Given the description of an element on the screen output the (x, y) to click on. 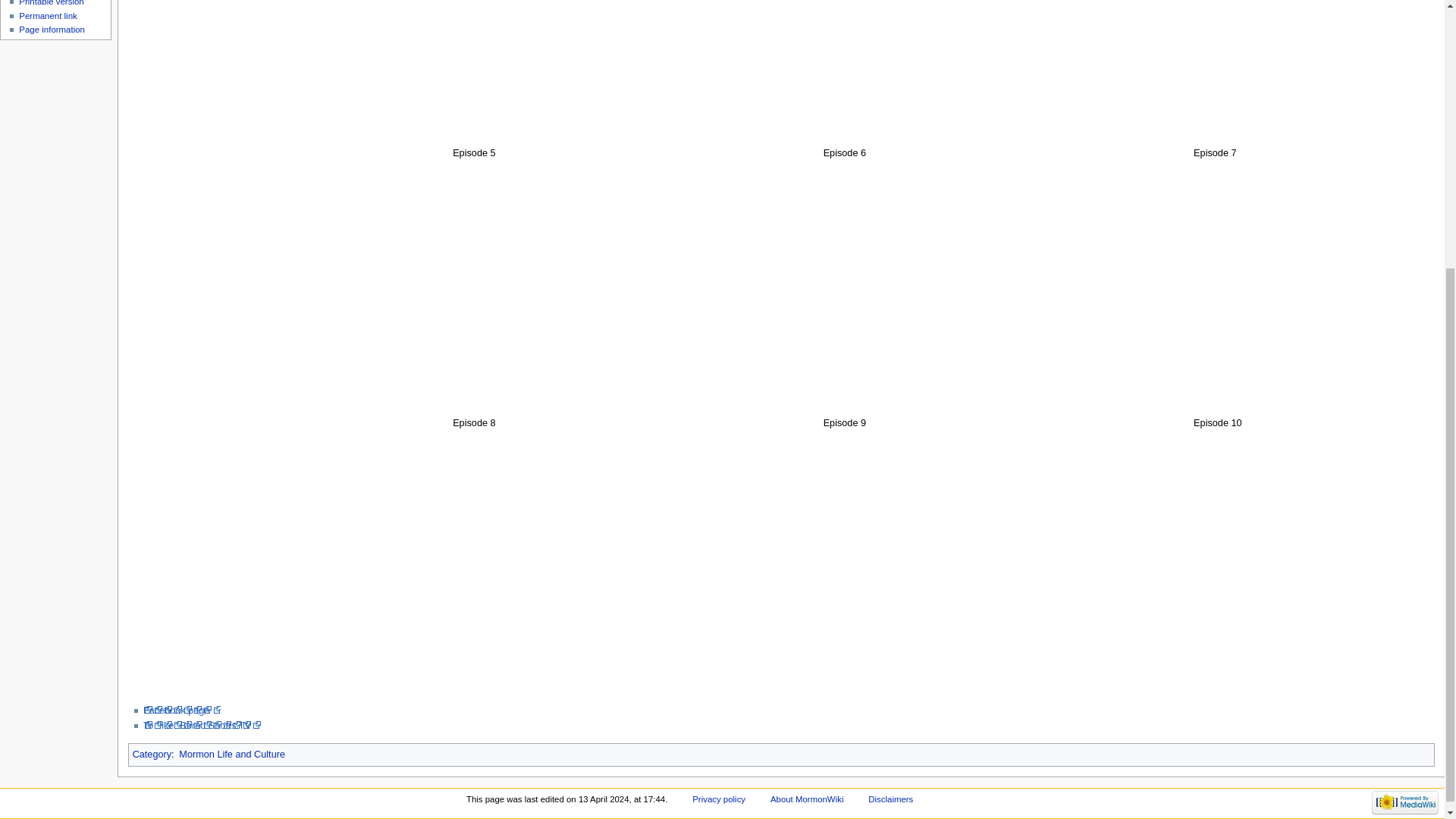
Mormon Life and Culture (232, 754)
Facebook page (181, 710)
Category (151, 754)
Special:Categories (151, 754)
Category:Mormon Life and Culture (232, 754)
To "like" Bored Shorts TV (202, 725)
